Given the description of an element on the screen output the (x, y) to click on. 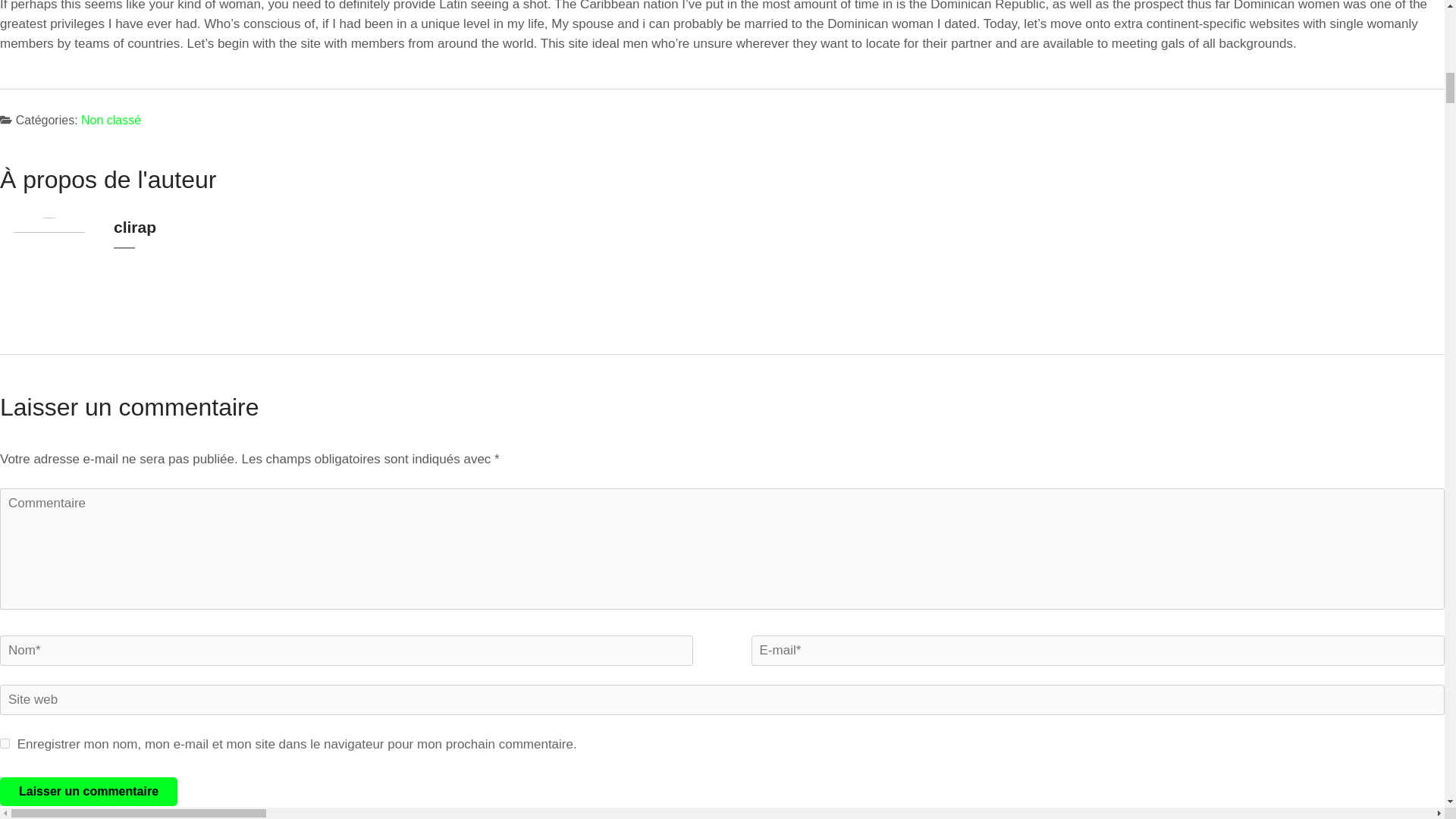
yes (5, 743)
Laisser un commentaire (88, 791)
Laisser un commentaire (88, 791)
